Given the description of an element on the screen output the (x, y) to click on. 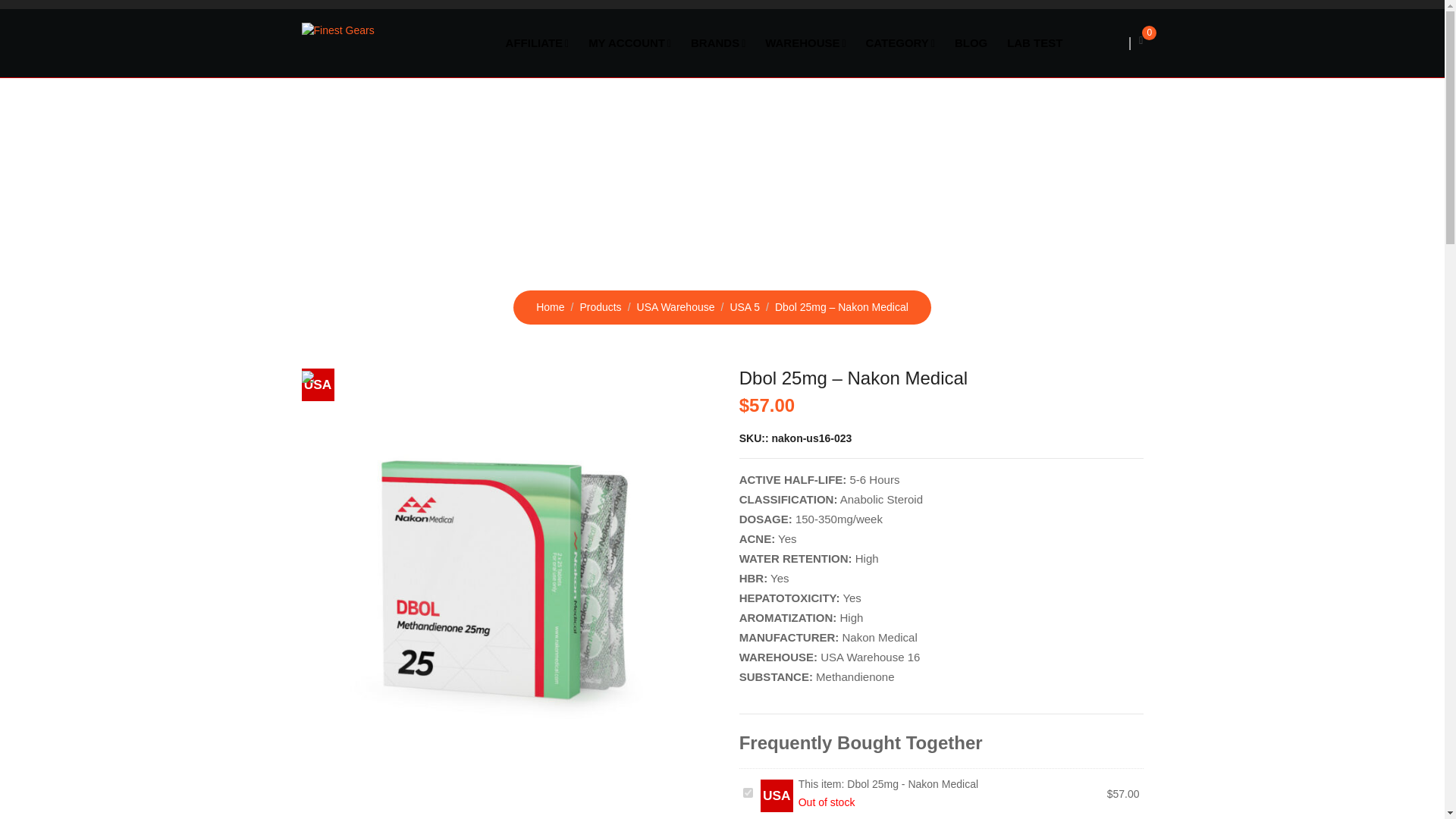
MY ACCOUNT (629, 42)
on (747, 792)
BRANDS (718, 42)
AFFILIATE (537, 42)
